Given the description of an element on the screen output the (x, y) to click on. 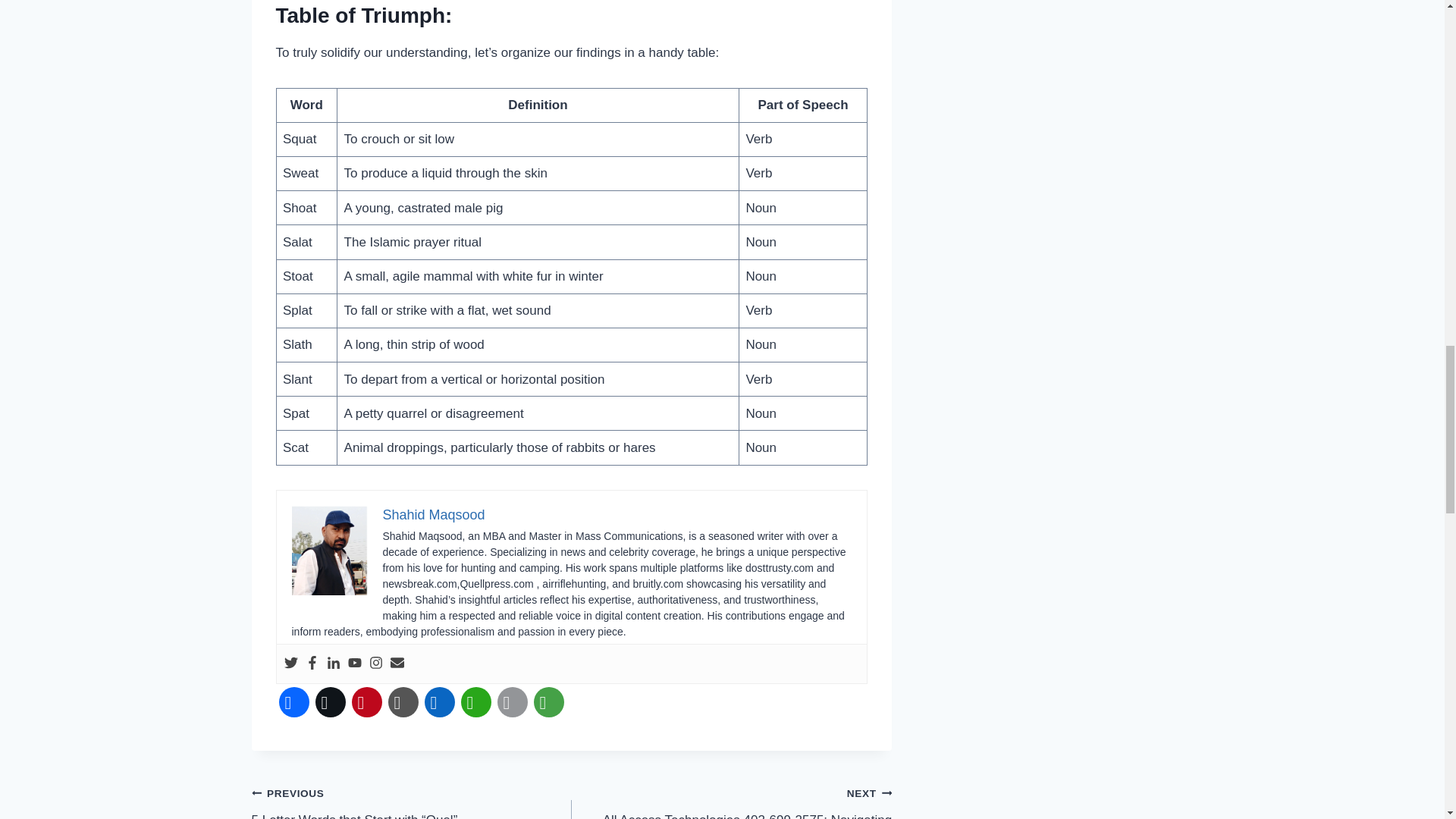
Pinterest (367, 701)
Copy Link (403, 701)
WhatsApp (476, 701)
LinkedIn (440, 701)
Facebook (294, 701)
More Options (549, 701)
Shahid Maqsood (432, 514)
Email This (513, 701)
